Given the description of an element on the screen output the (x, y) to click on. 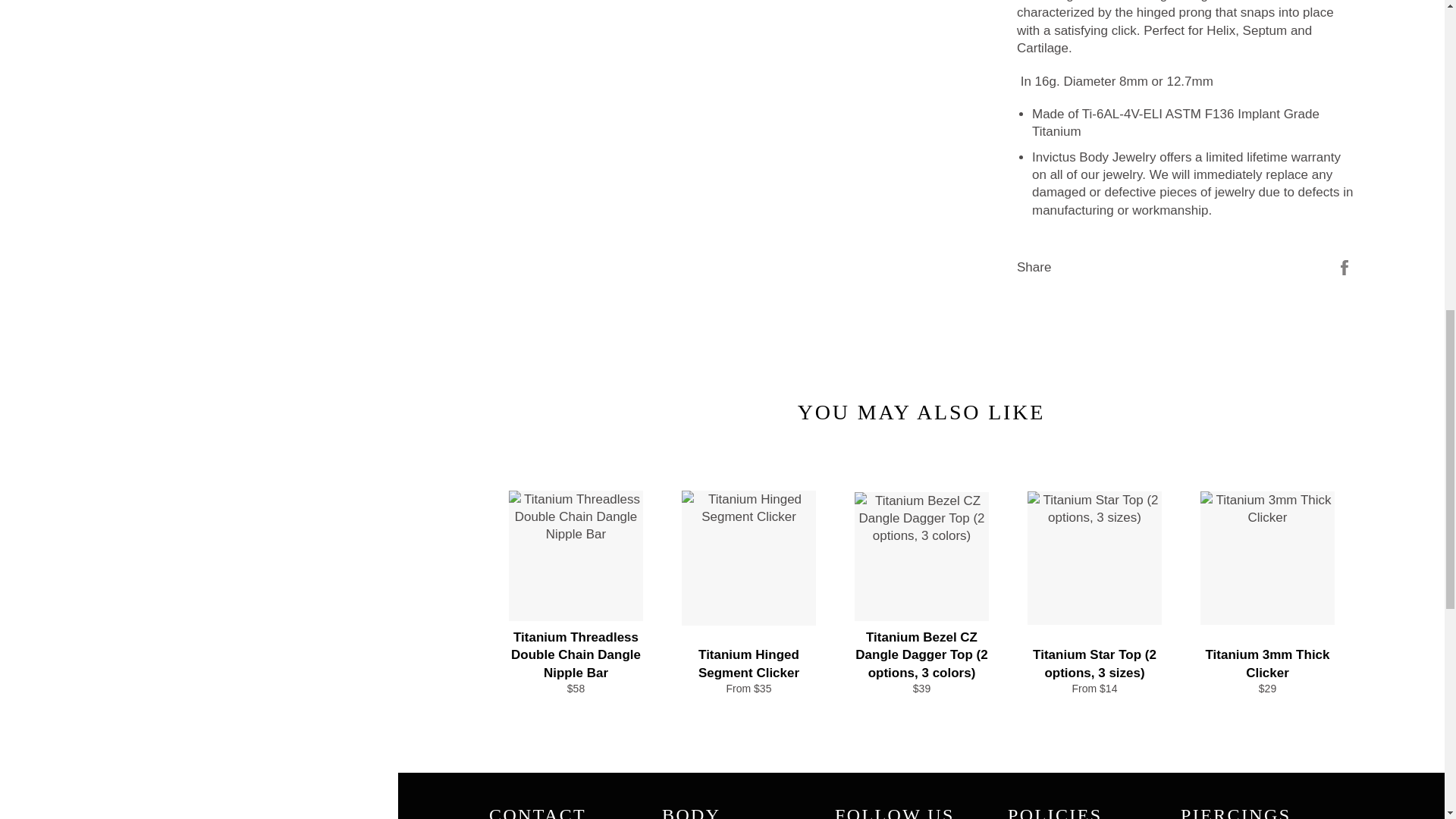
Share on Facebook (1344, 266)
